Given the description of an element on the screen output the (x, y) to click on. 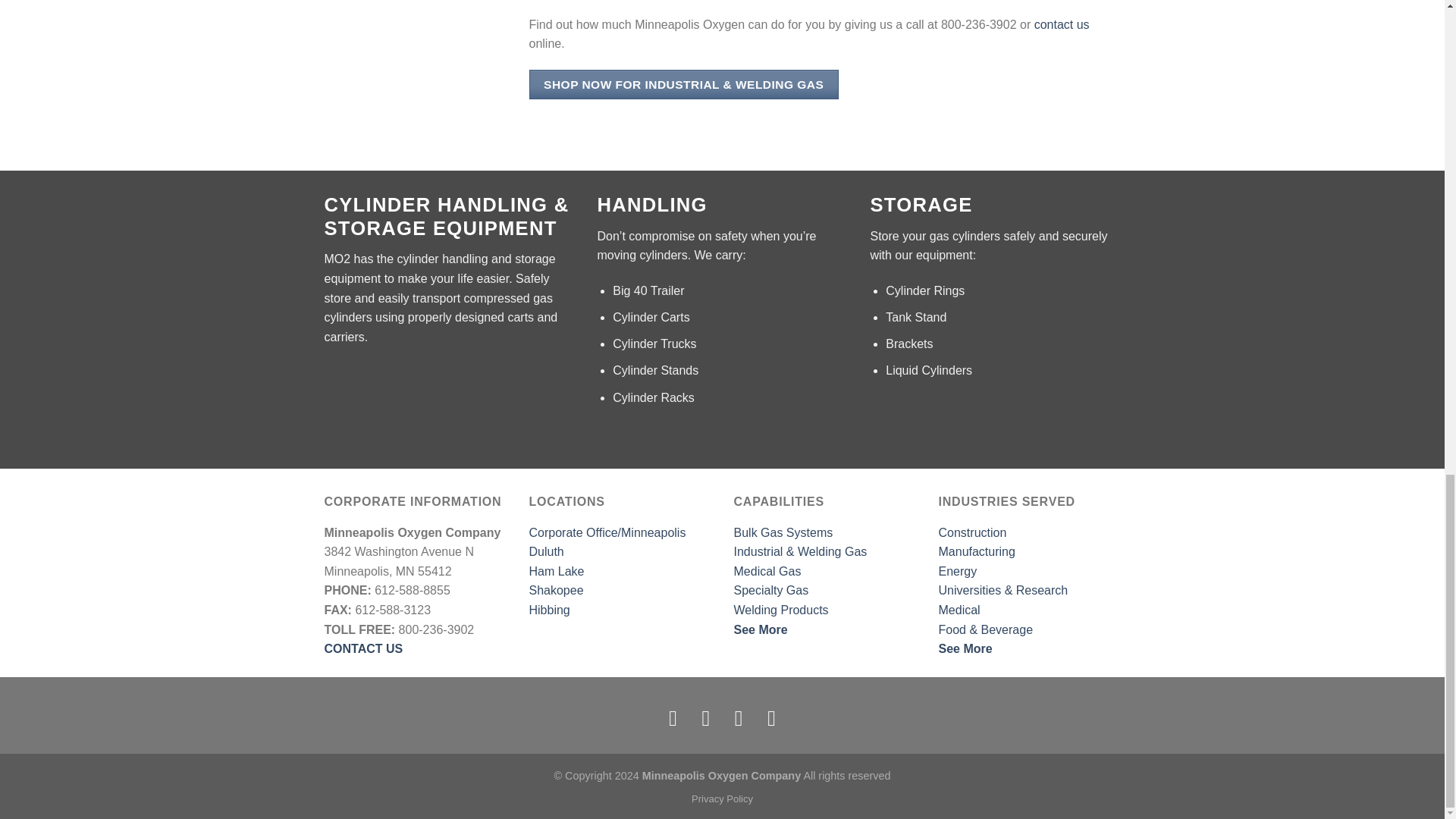
Follow on Facebook (673, 717)
Follow on Twitter (738, 717)
Follow on LinkedIn (771, 717)
Follow on Instagram (705, 717)
